Given the description of an element on the screen output the (x, y) to click on. 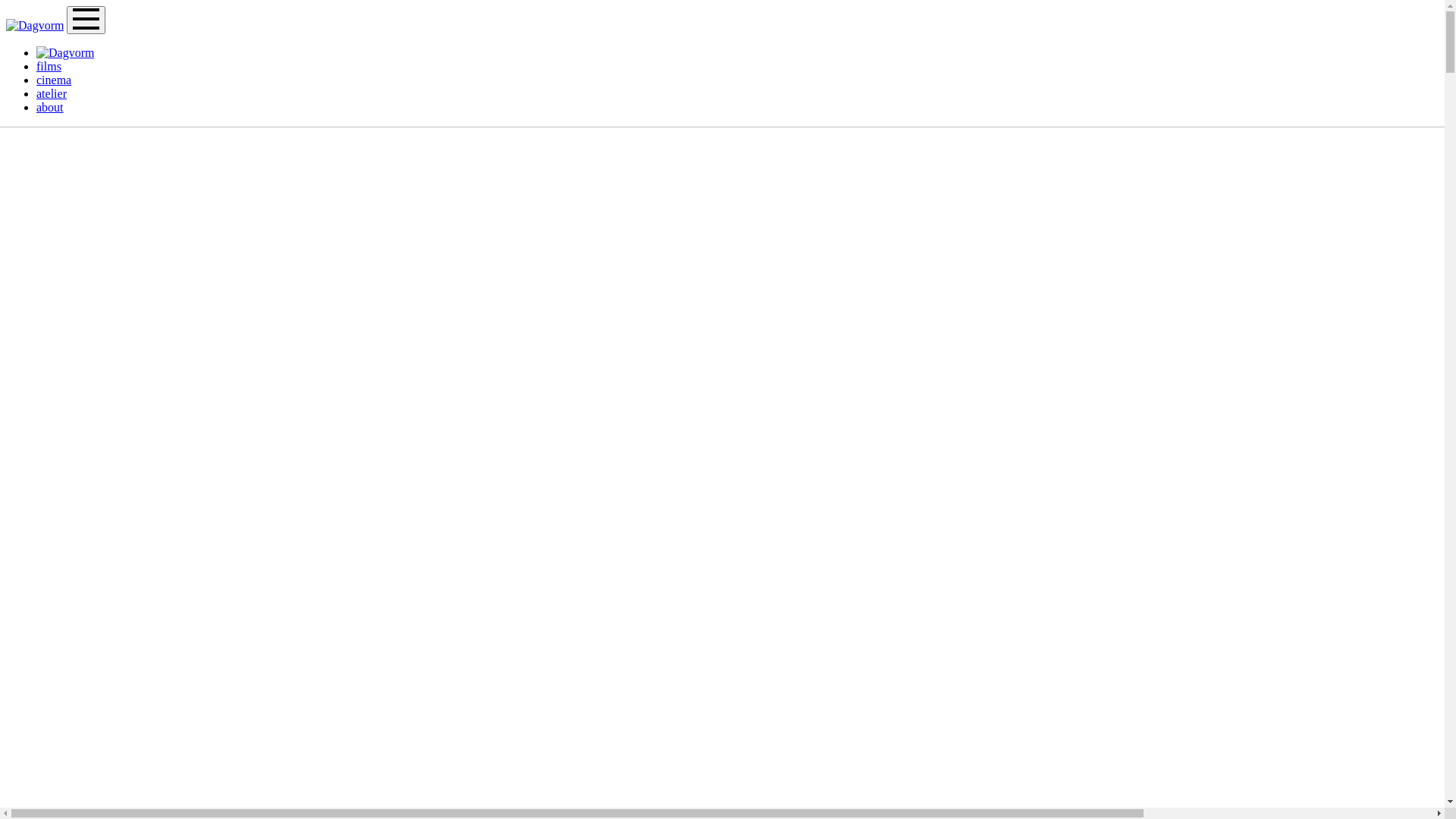
Skip to content Element type: text (5, 5)
films Element type: text (48, 65)
cinema Element type: text (53, 79)
atelier Element type: text (51, 93)
about Element type: text (49, 106)
Menu Icon Element type: text (85, 20)
